Given the description of an element on the screen output the (x, y) to click on. 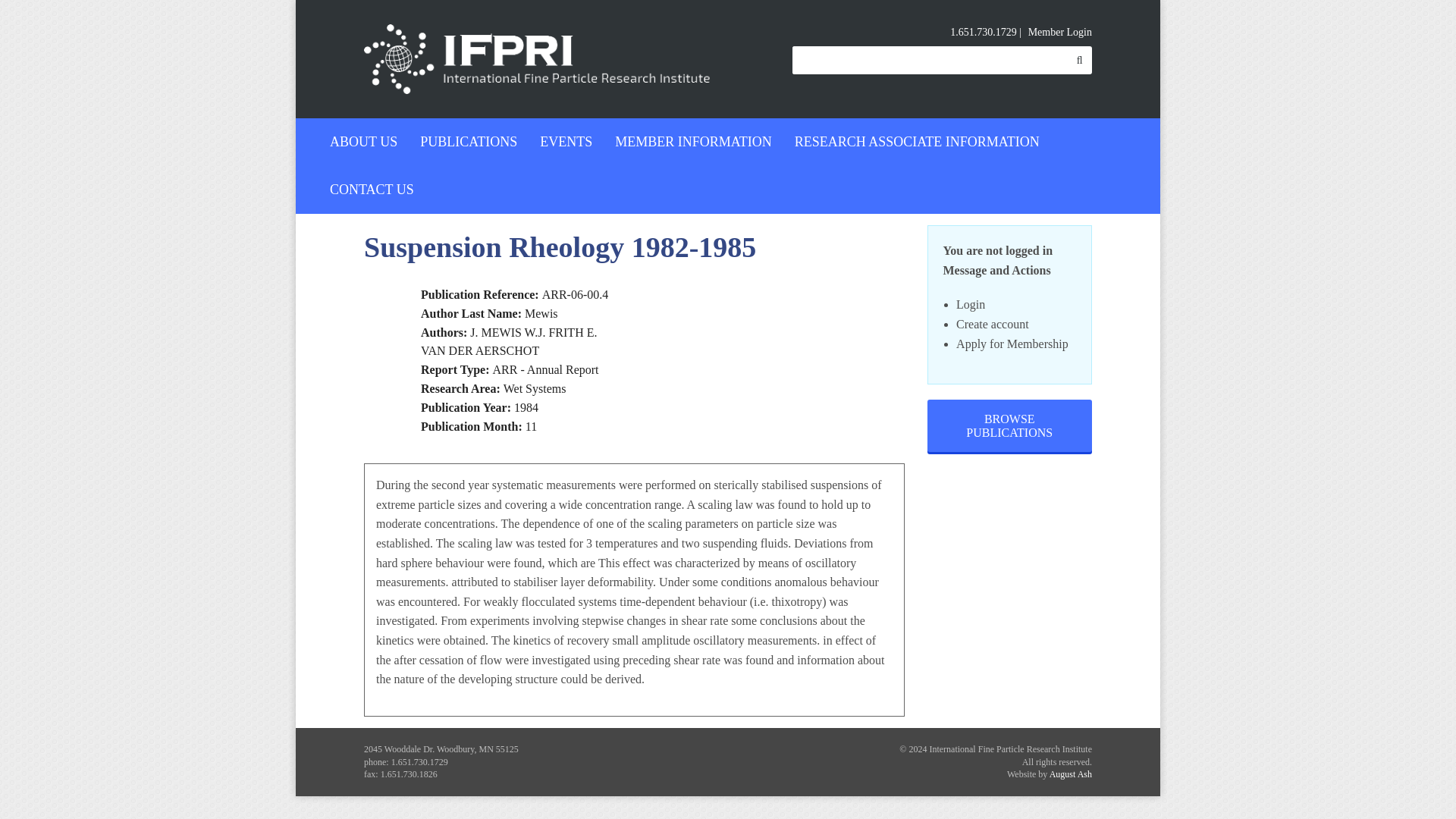
Member Login (1059, 32)
ABOUT US (363, 141)
Search (1079, 59)
EVENTS (566, 141)
Enter the terms you wish to search for. (929, 59)
CONTACT US (371, 189)
International Fine Particle Research Institute Home (540, 59)
MEMBER INFORMATION (693, 141)
August Ash (1070, 774)
International Fine Particle Research Institute Home (540, 57)
RESEARCH ASSOCIATE INFORMATION (917, 141)
PUBLICATIONS (468, 141)
BROWSE PUBLICATIONS (1009, 425)
1.651.730.1729 (983, 31)
